Given the description of an element on the screen output the (x, y) to click on. 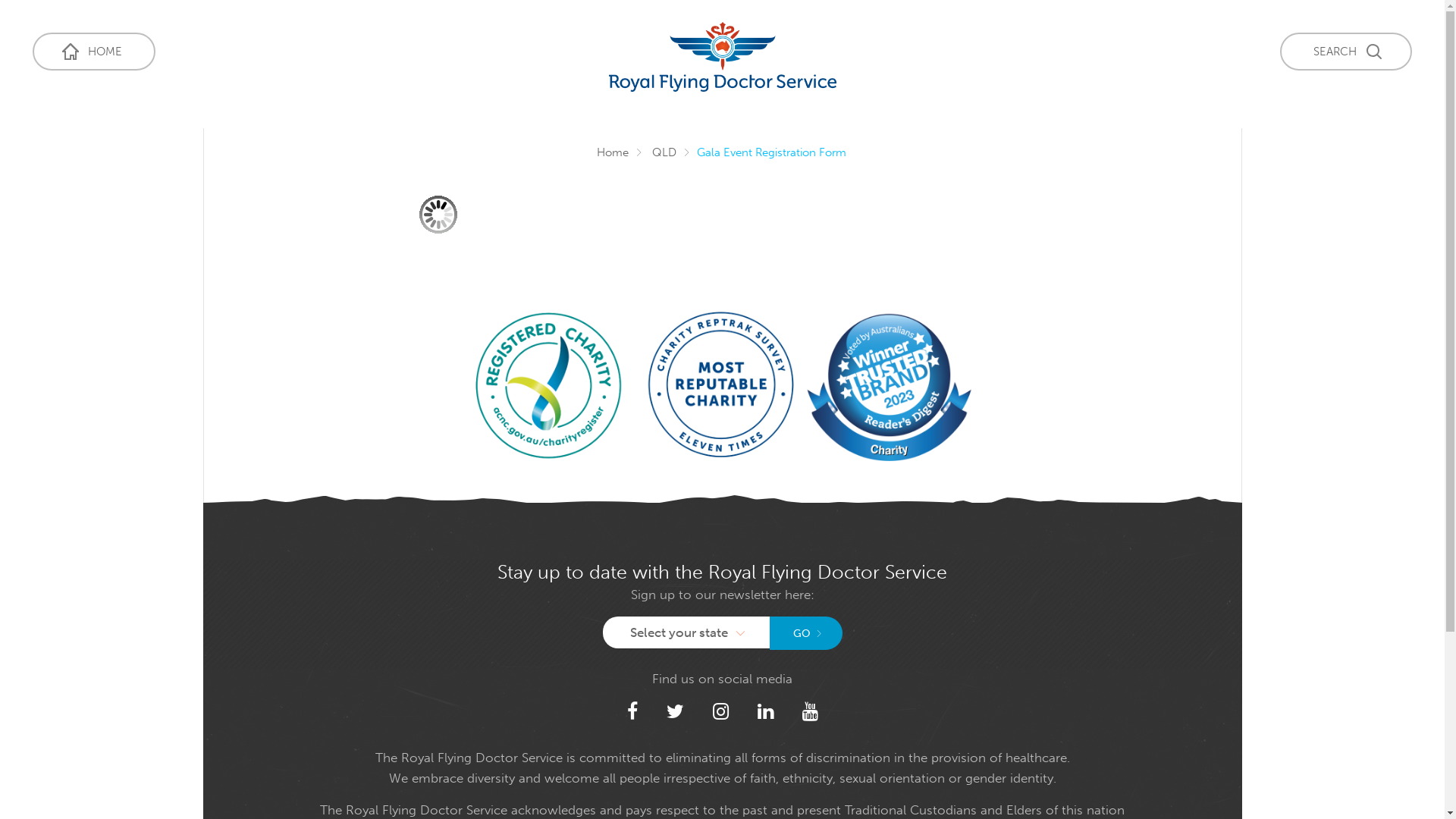
Facebook Element type: text (631, 711)
Royal Flying Doctor Service Element type: text (721, 56)
Youtube Element type: text (810, 711)
SEARCH Element type: text (1346, 51)
Instagram Element type: text (720, 711)
Twitter Element type: text (674, 711)
Select your state Element type: text (685, 632)
GO Element type: text (804, 632)
Home Element type: text (612, 152)
Linked In Element type: text (764, 711)
QLD Element type: text (664, 152)
HOME Element type: text (93, 51)
